Given the description of an element on the screen output the (x, y) to click on. 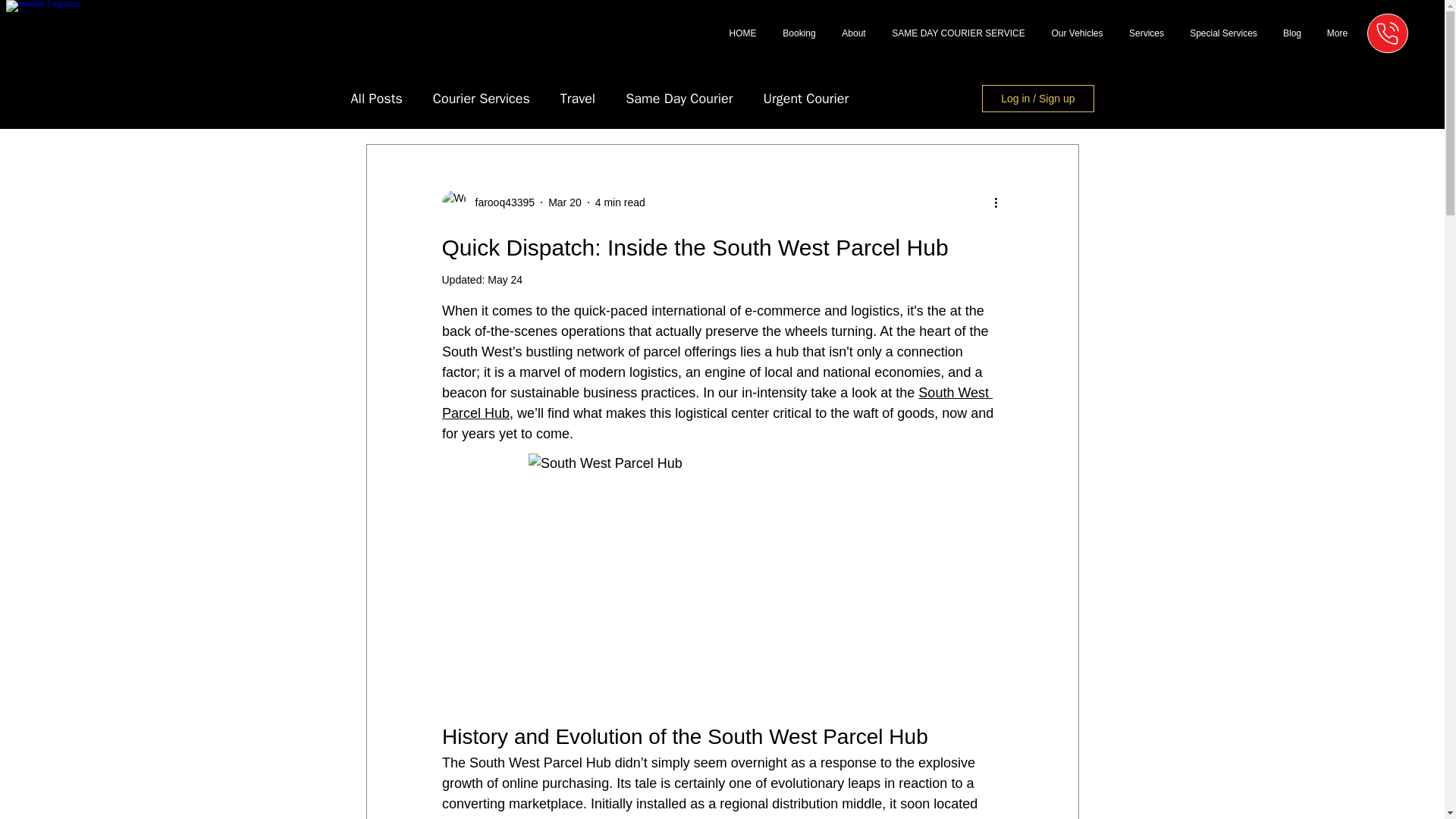
Travel (577, 98)
South West Parcel Hub (716, 402)
Our Vehicles (1077, 33)
Services (1146, 33)
SAME DAY COURIER SERVICE (958, 33)
Blog (1291, 33)
Urgent Courier (805, 98)
Booking (799, 33)
Special Services (1222, 33)
May 24 (504, 279)
